Given the description of an element on the screen output the (x, y) to click on. 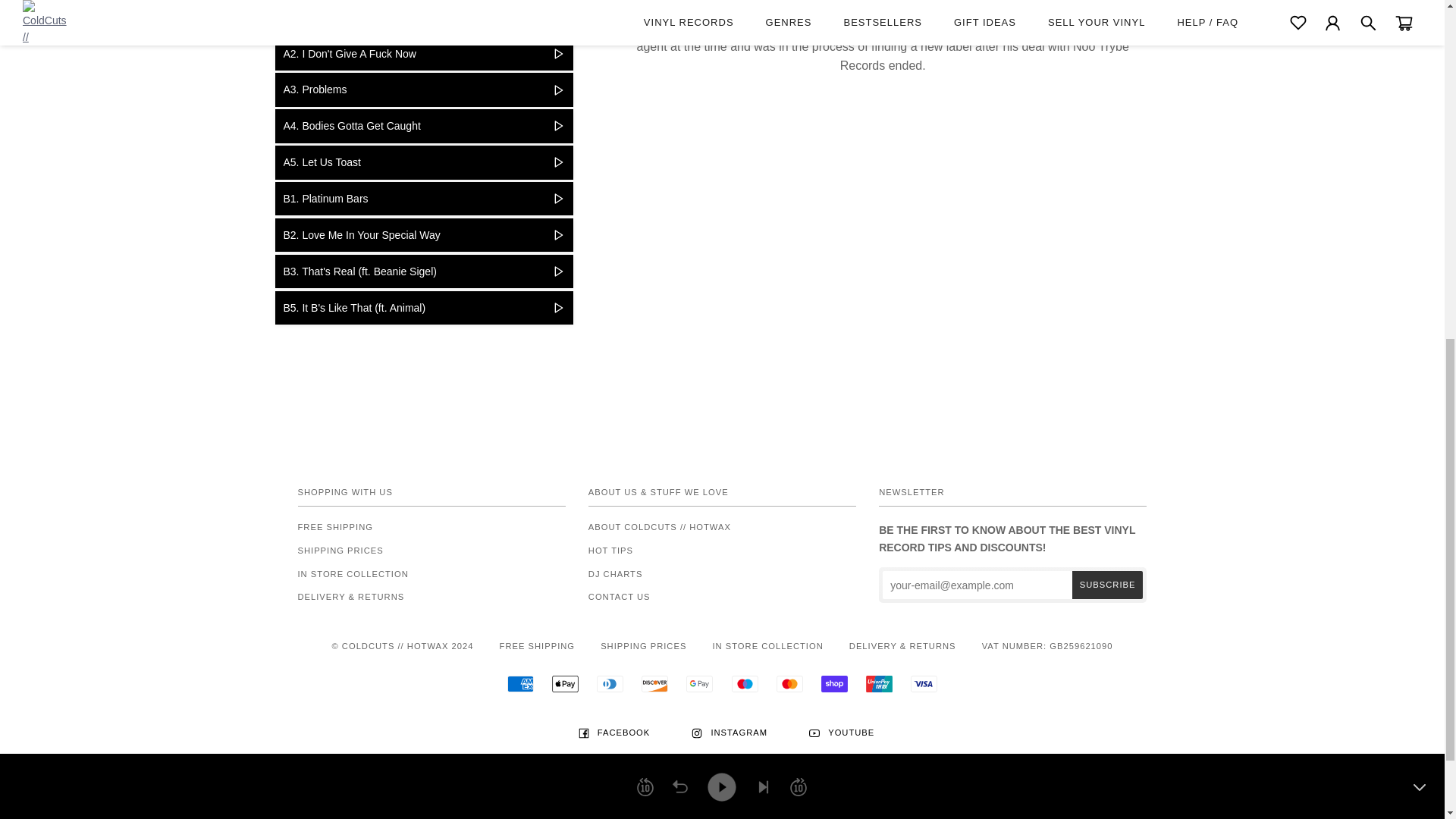
Play (721, 149)
Replay from start (679, 149)
AMERICAN EXPRESS (520, 683)
Next track (762, 149)
Fast forward 10s (797, 149)
VISA (924, 683)
APPLE PAY (564, 683)
MASTERCARD (789, 683)
DINERS CLUB (609, 683)
DISCOVER (655, 683)
Rewind 10s (644, 149)
GOOGLE PAY (699, 683)
MAESTRO (745, 683)
UNION PAY (879, 683)
Subscribe (1106, 584)
